Given the description of an element on the screen output the (x, y) to click on. 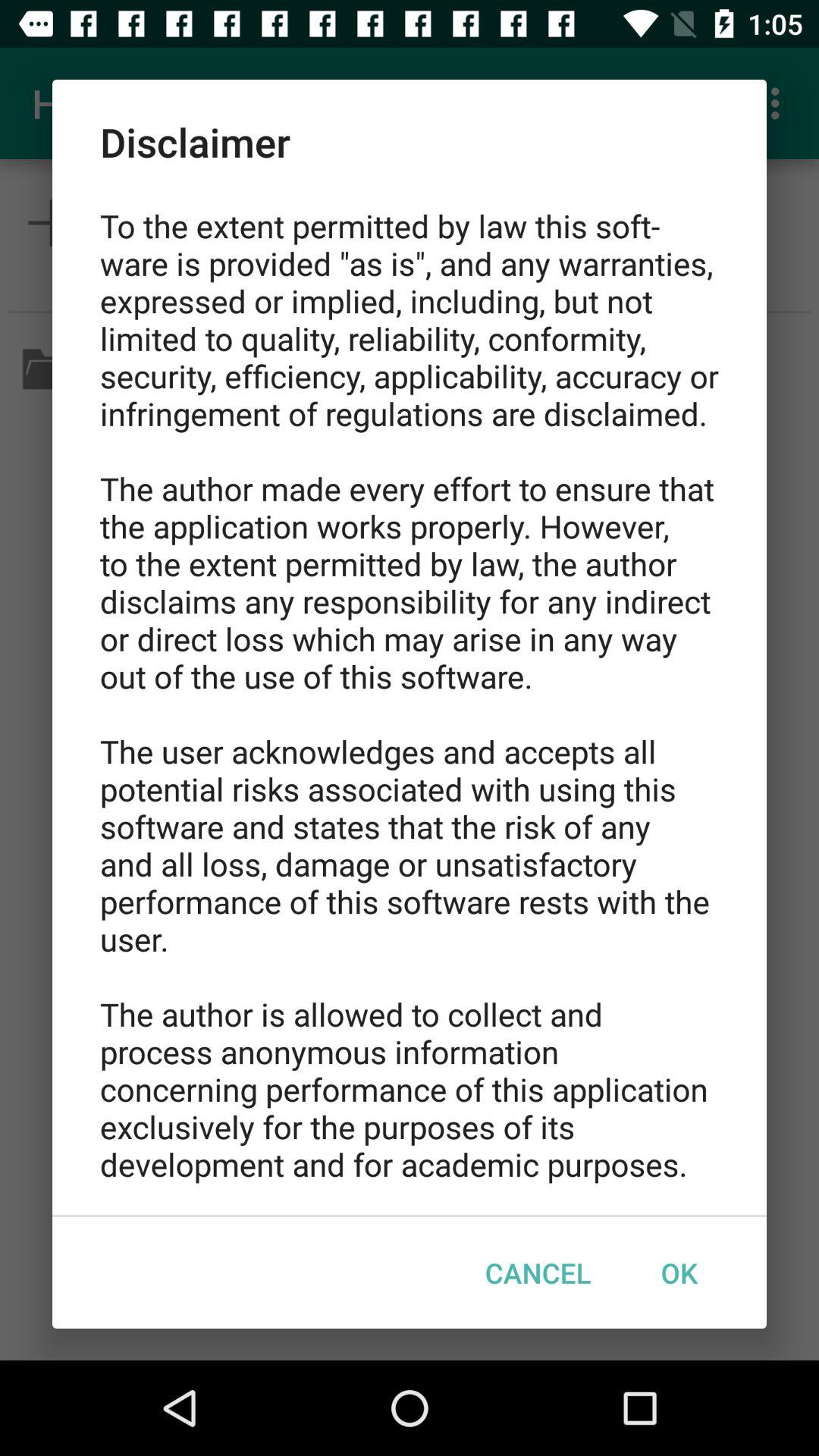
choose cancel item (538, 1272)
